Given the description of an element on the screen output the (x, y) to click on. 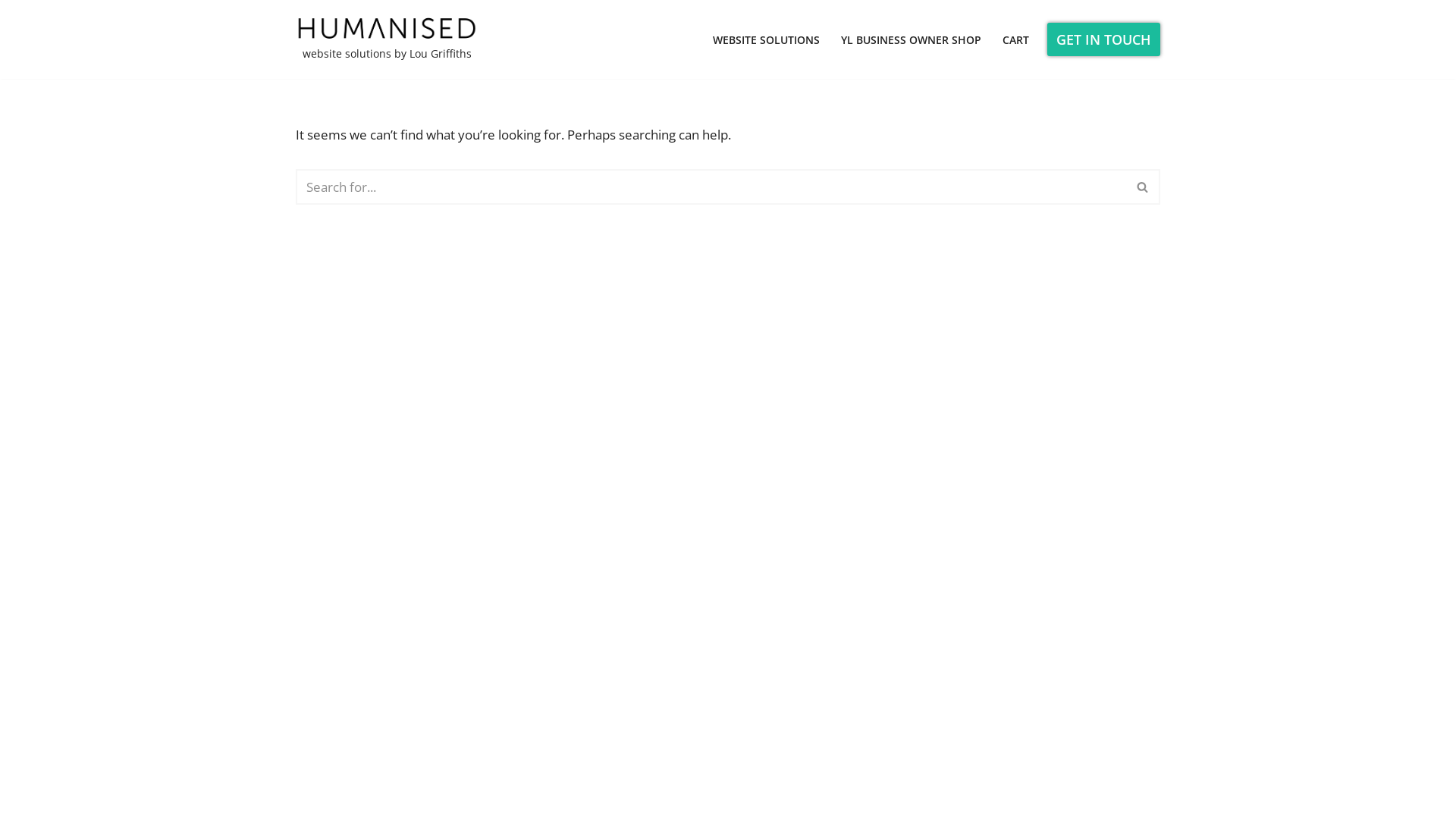
website solutions by Lou Griffiths Element type: text (386, 39)
YL BUSINESS OWNER SHOP Element type: text (910, 39)
WEBSITE SOLUTIONS Element type: text (765, 39)
GET IN TOUCH Element type: text (1103, 39)
Skip to content Element type: text (11, 31)
CART Element type: text (1015, 39)
